Given the description of an element on the screen output the (x, y) to click on. 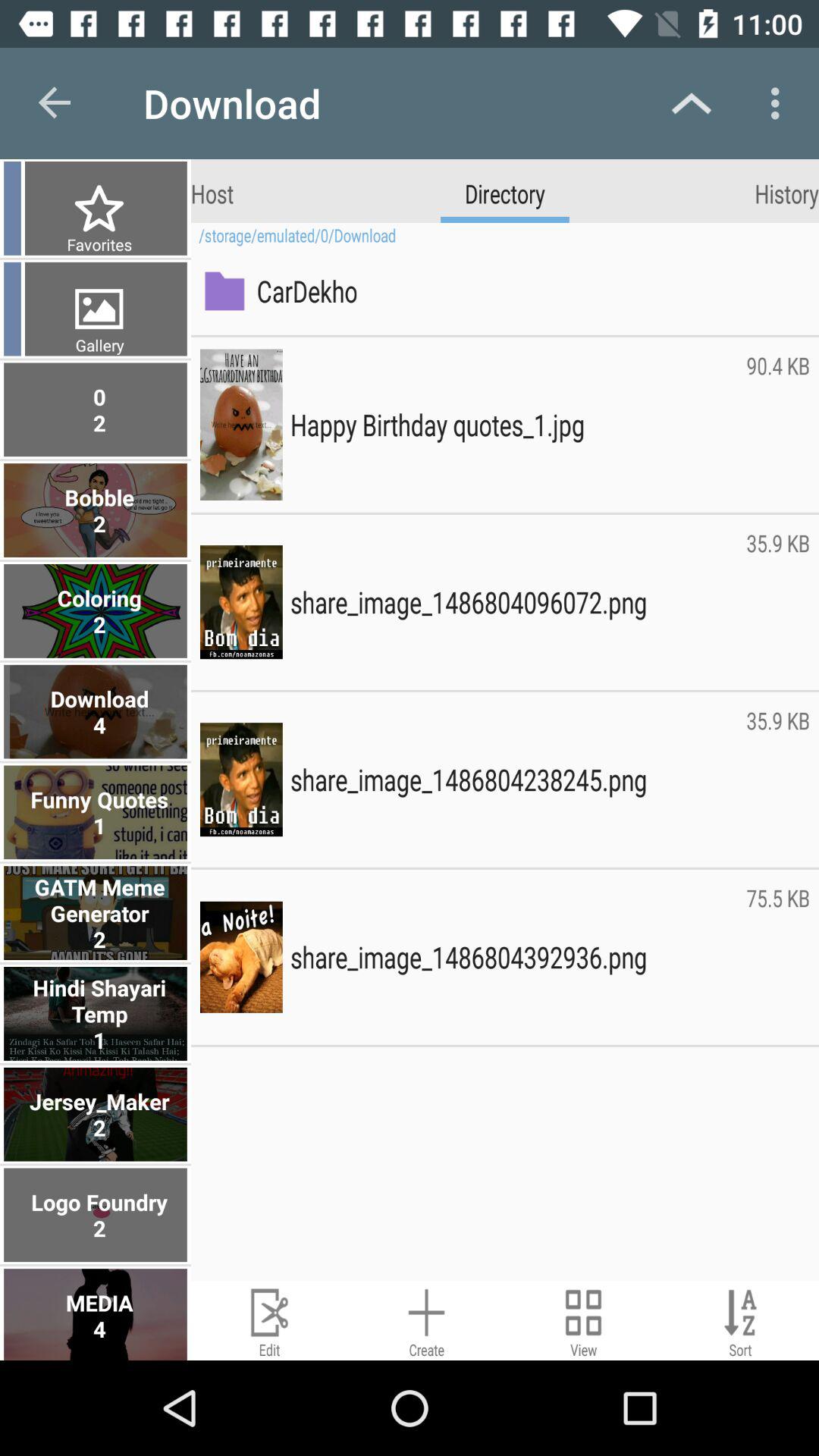
edit image (269, 1320)
